Given the description of an element on the screen output the (x, y) to click on. 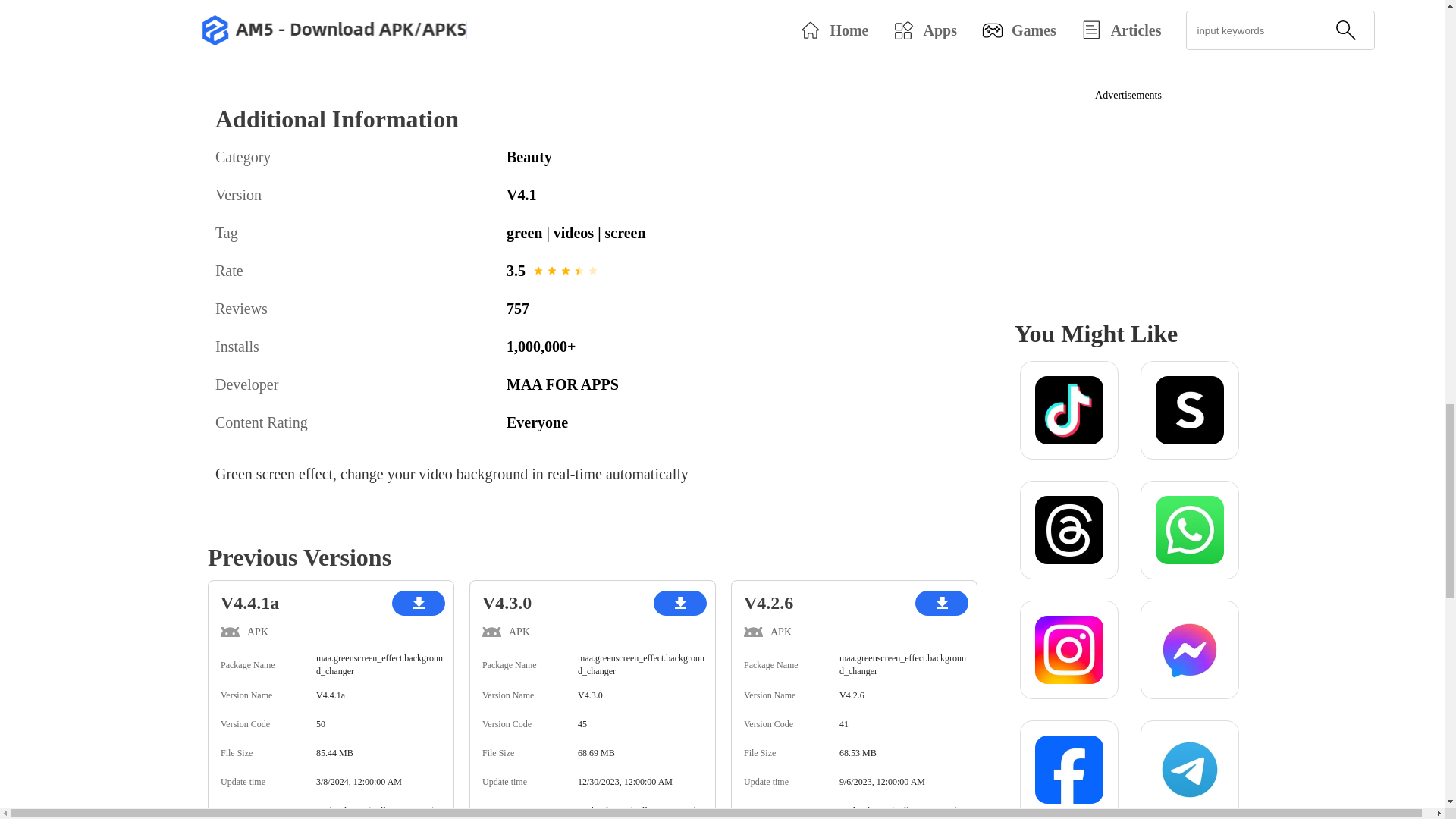
Download (595, 35)
Beauty (747, 156)
Download (336, 35)
Download (852, 38)
